Given the description of an element on the screen output the (x, y) to click on. 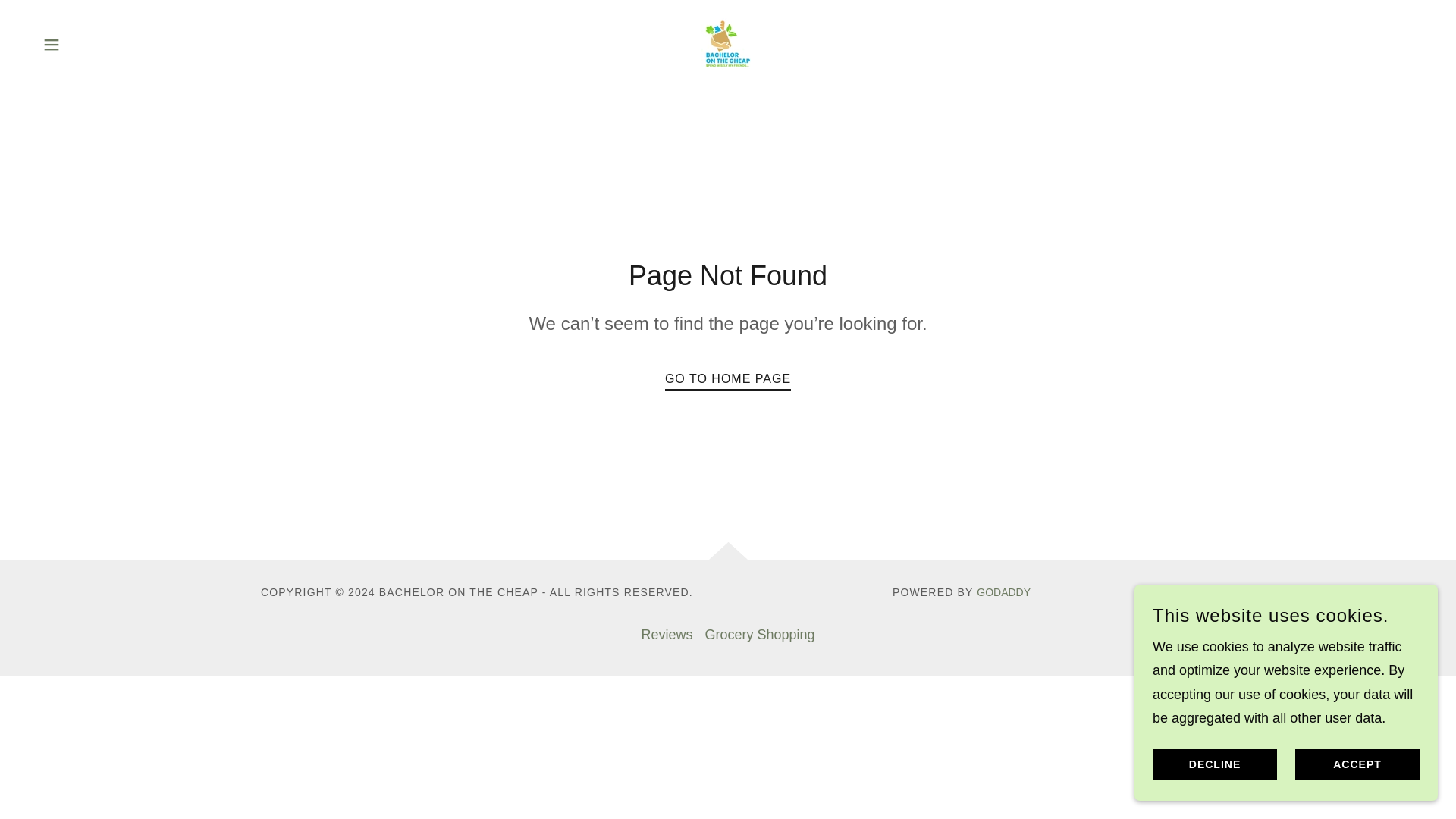
GODADDY (1003, 592)
GO TO HOME PAGE (727, 375)
DECLINE (1214, 764)
Grocery Shopping (759, 635)
ACCEPT (1357, 764)
Reviews (666, 635)
